Given the description of an element on the screen output the (x, y) to click on. 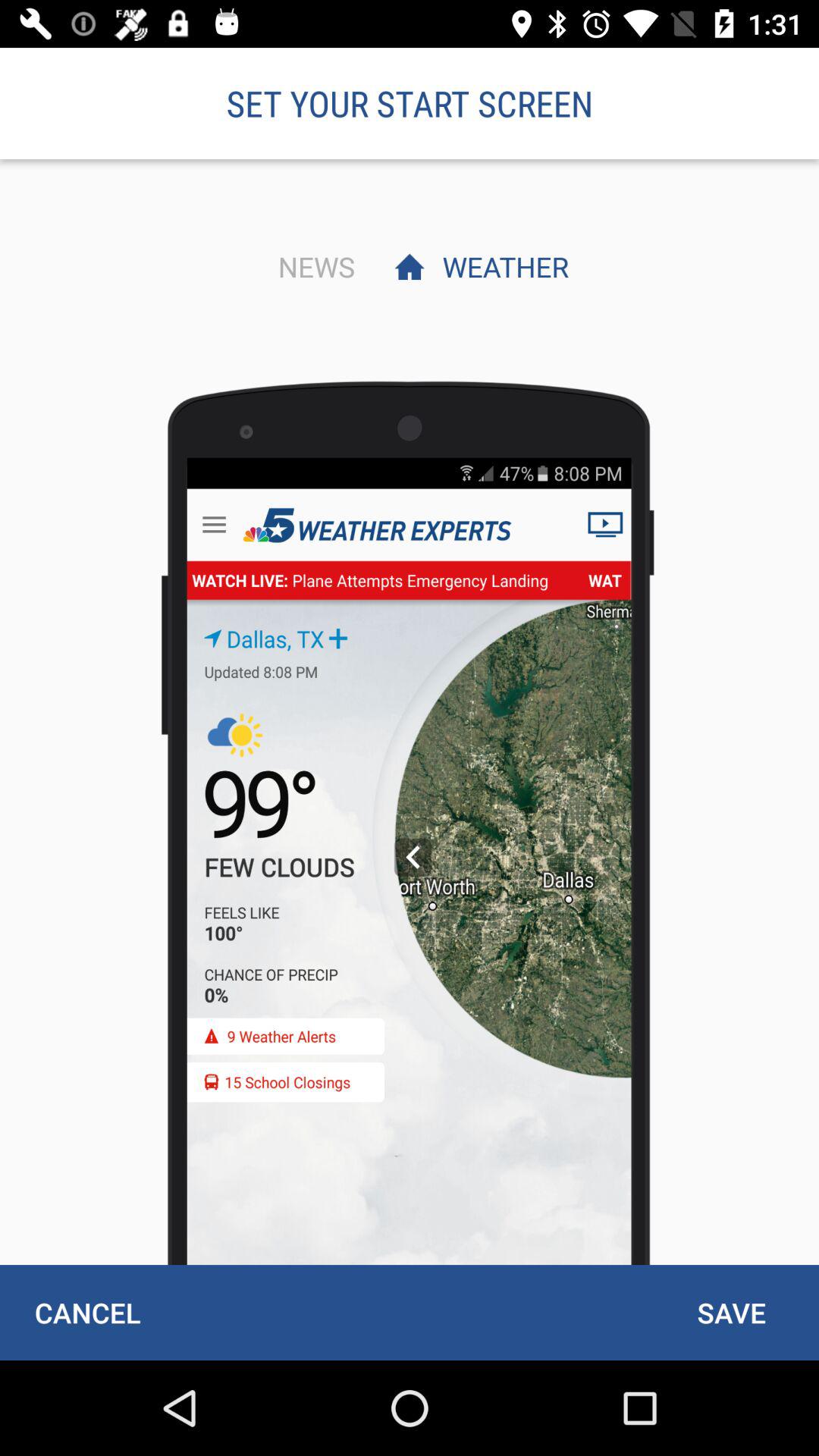
jump until cancel item (87, 1312)
